Given the description of an element on the screen output the (x, y) to click on. 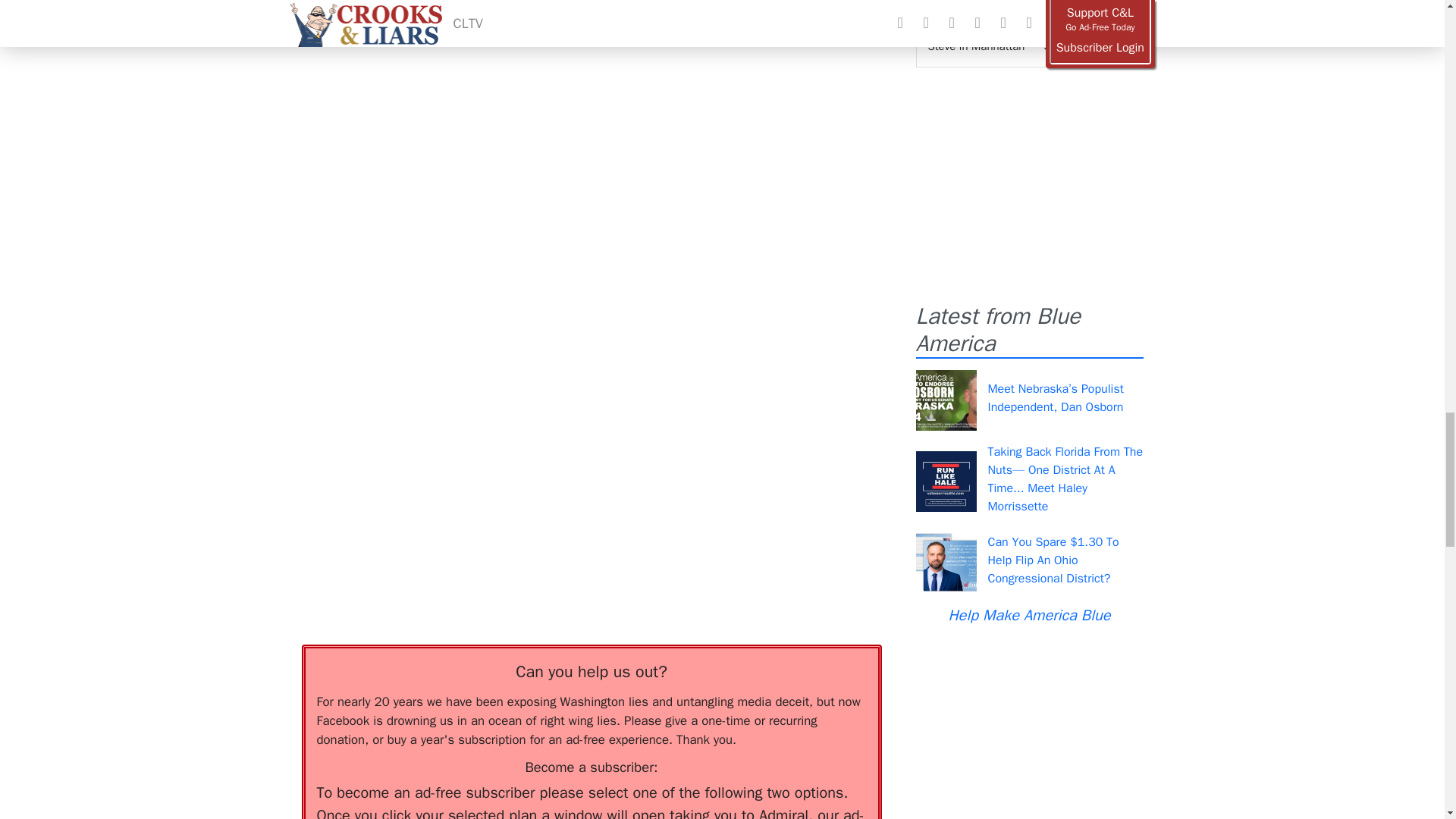
Michael Bennet (629, 14)
Ken Buck (769, 2)
Colorado (610, 2)
CO-Sen (547, 2)
Jane Norton (689, 2)
Andrew Romanoff (455, 2)
Insticator Content Engagement Unit (415, 334)
